Given the description of an element on the screen output the (x, y) to click on. 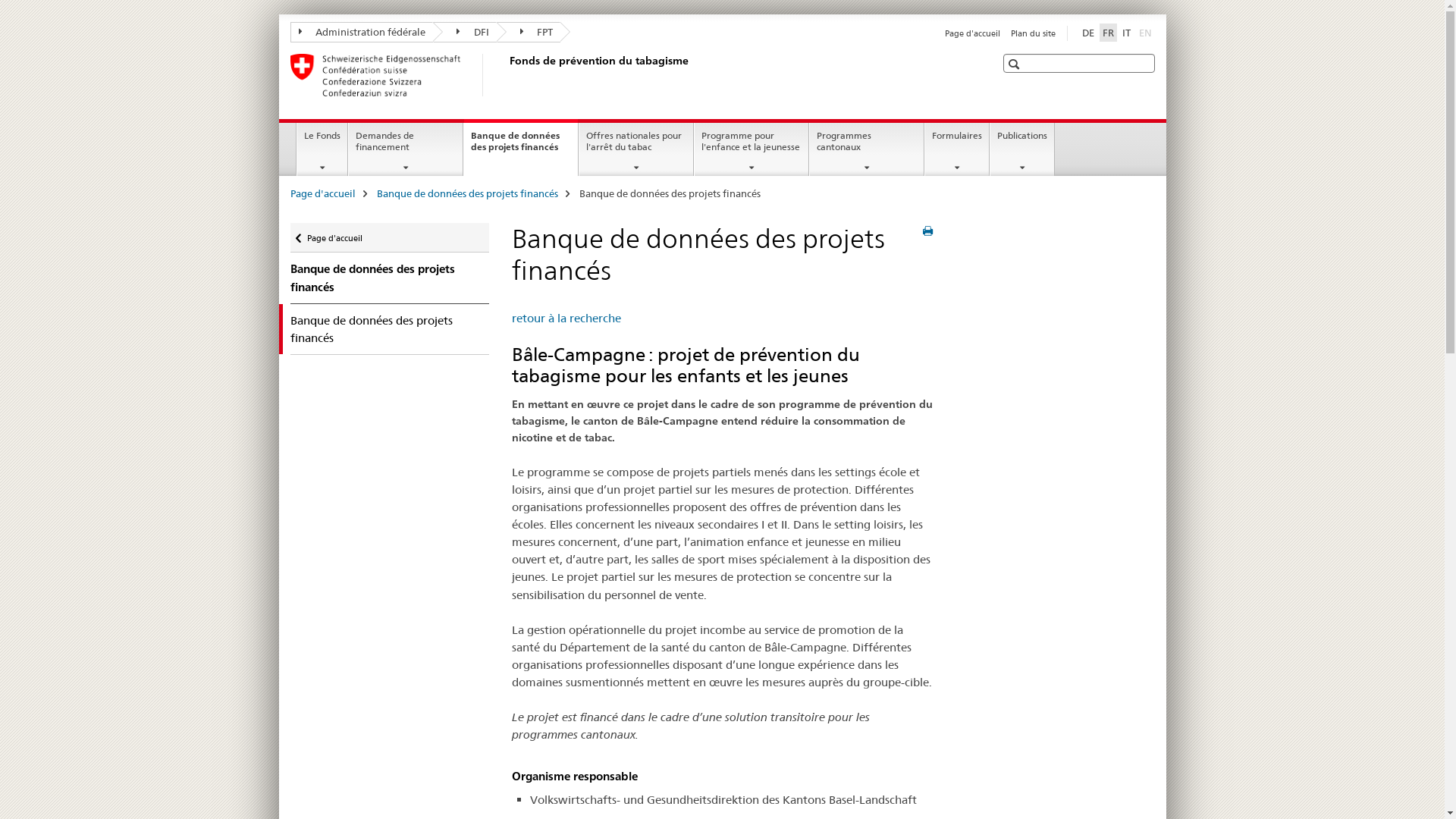
IT Element type: text (1126, 32)
Demandes de financement Element type: text (405, 148)
DE Element type: text (1087, 32)
DFI Element type: text (464, 31)
Page d'accueil Element type: text (972, 33)
Formulaires Element type: text (956, 148)
EN
disabled Element type: text (1144, 32)
Retour
Page d'accueil Element type: text (389, 237)
Programme pour l'enfance et la jeunesse Element type: text (751, 148)
Publications Element type: text (1022, 148)
Page d'accueil Element type: text (321, 193)
Le Fonds Element type: text (322, 148)
FPT Element type: text (527, 31)
Plan du site Element type: text (1032, 33)
Imprimer cette page Element type: hover (927, 230)
FR Element type: text (1108, 32)
Programmes cantonaux Element type: text (866, 148)
